Given the description of an element on the screen output the (x, y) to click on. 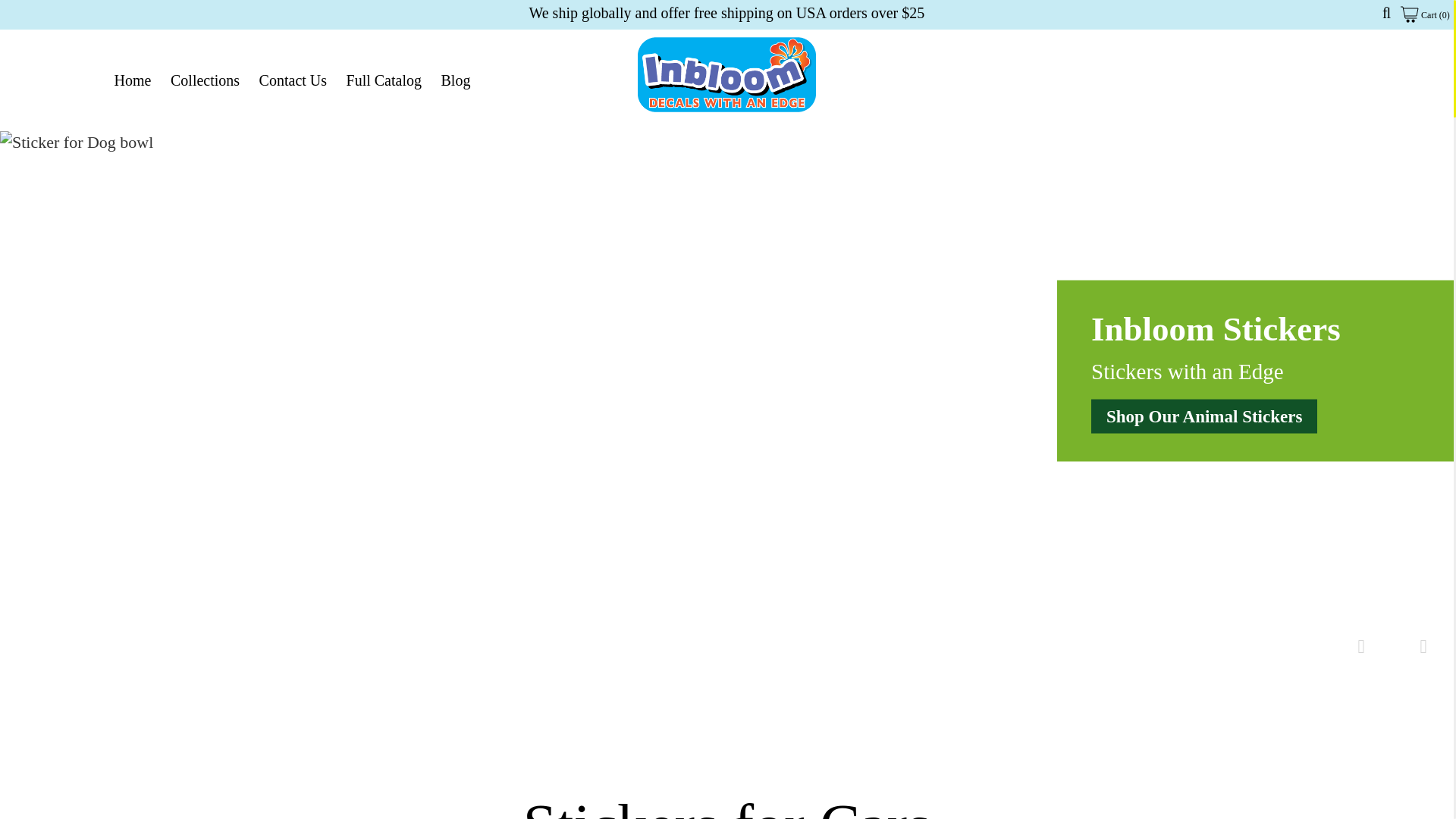
Blog (456, 80)
Collections (205, 80)
Contact Us (292, 80)
Home (132, 80)
Full Catalog (384, 80)
